Given the description of an element on the screen output the (x, y) to click on. 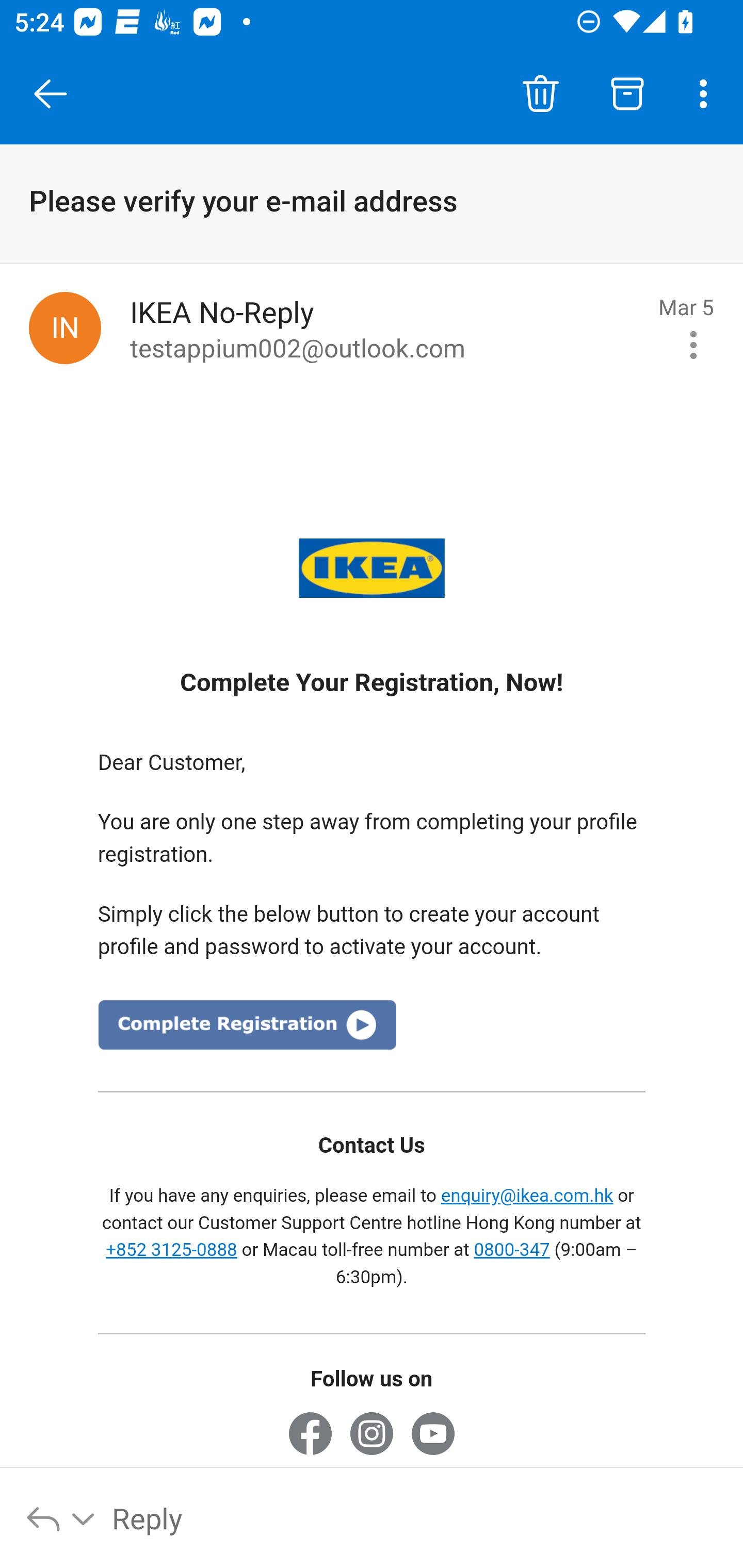
Close (50, 93)
Delete (540, 93)
Archive (626, 93)
More options (706, 93)
IKEA No-Reply, noreply@ikea.com.hk (64, 327)
IKEA No-Reply
to testappium002@outlook.com (387, 328)
Message actions (692, 344)
www.ikea.com (371, 567)
image (246, 1030)
enquiry@ikea.com.hk (526, 1196)
+852 3125-0888 (172, 1250)
0800-347 (512, 1250)
IKEAhongkong (310, 1437)
ikeahongkong (371, 1437)
UCcQ5WlinXufbKizIJHlI4LQ (432, 1437)
Reply options (61, 1517)
